Given the description of an element on the screen output the (x, y) to click on. 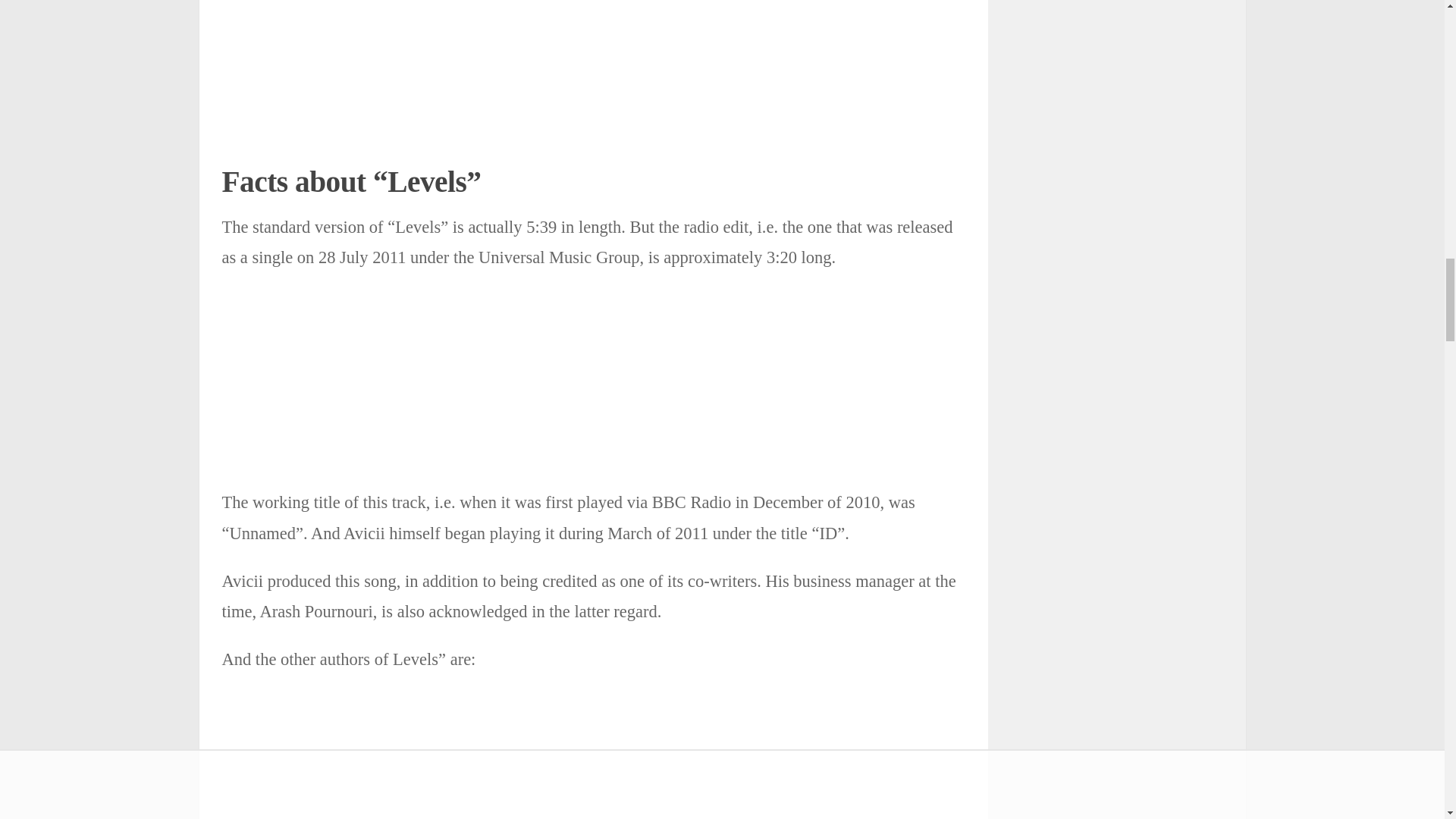
Avicii - Levels (592, 58)
